Given the description of an element on the screen output the (x, y) to click on. 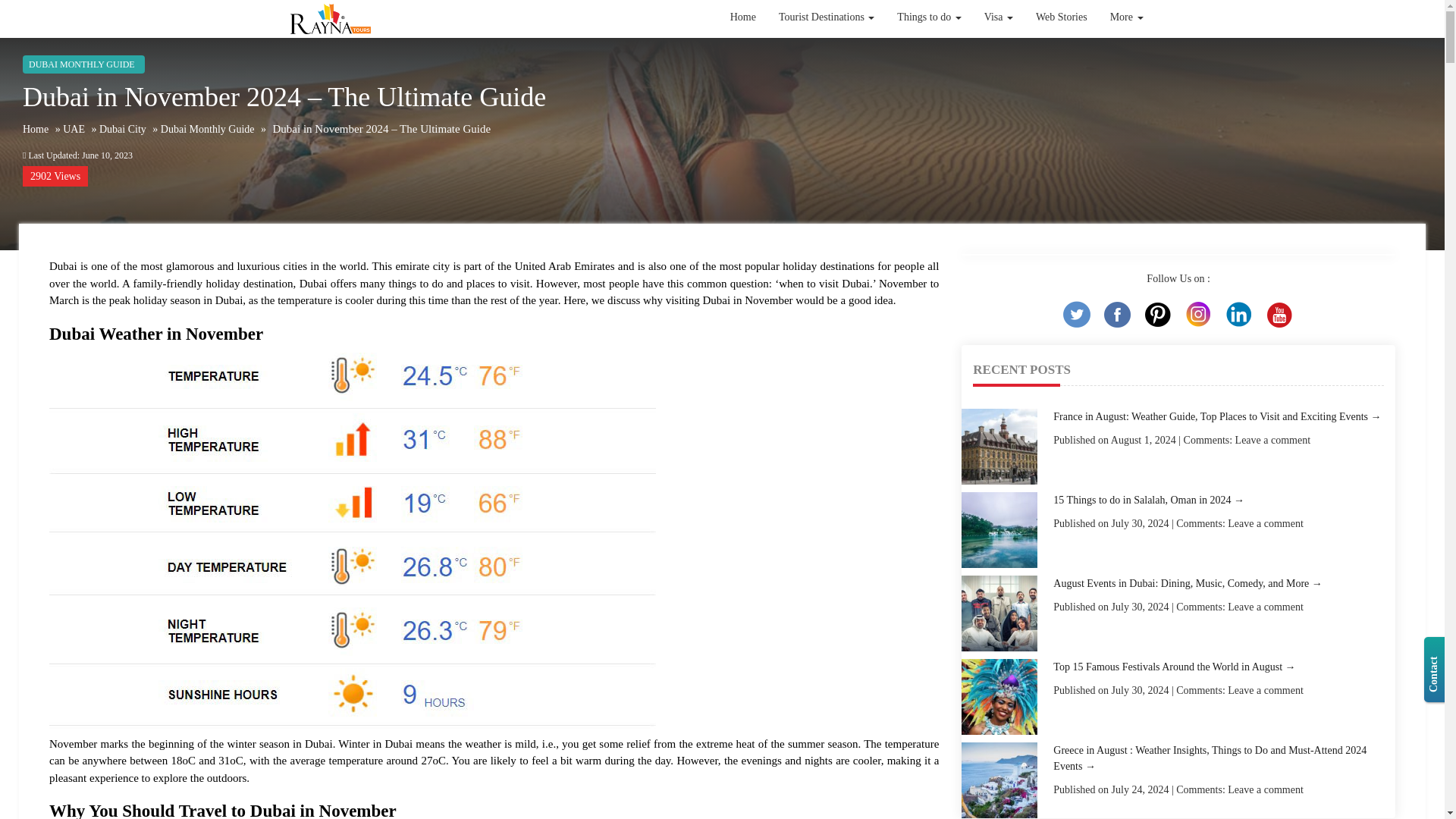
Tourist Destinations (826, 17)
More (1126, 17)
Tourist Destinations (826, 50)
Things to do (928, 17)
Home (743, 17)
Web Stories (1062, 17)
Things to do (928, 26)
Visa (998, 17)
Home (743, 51)
